Given the description of an element on the screen output the (x, y) to click on. 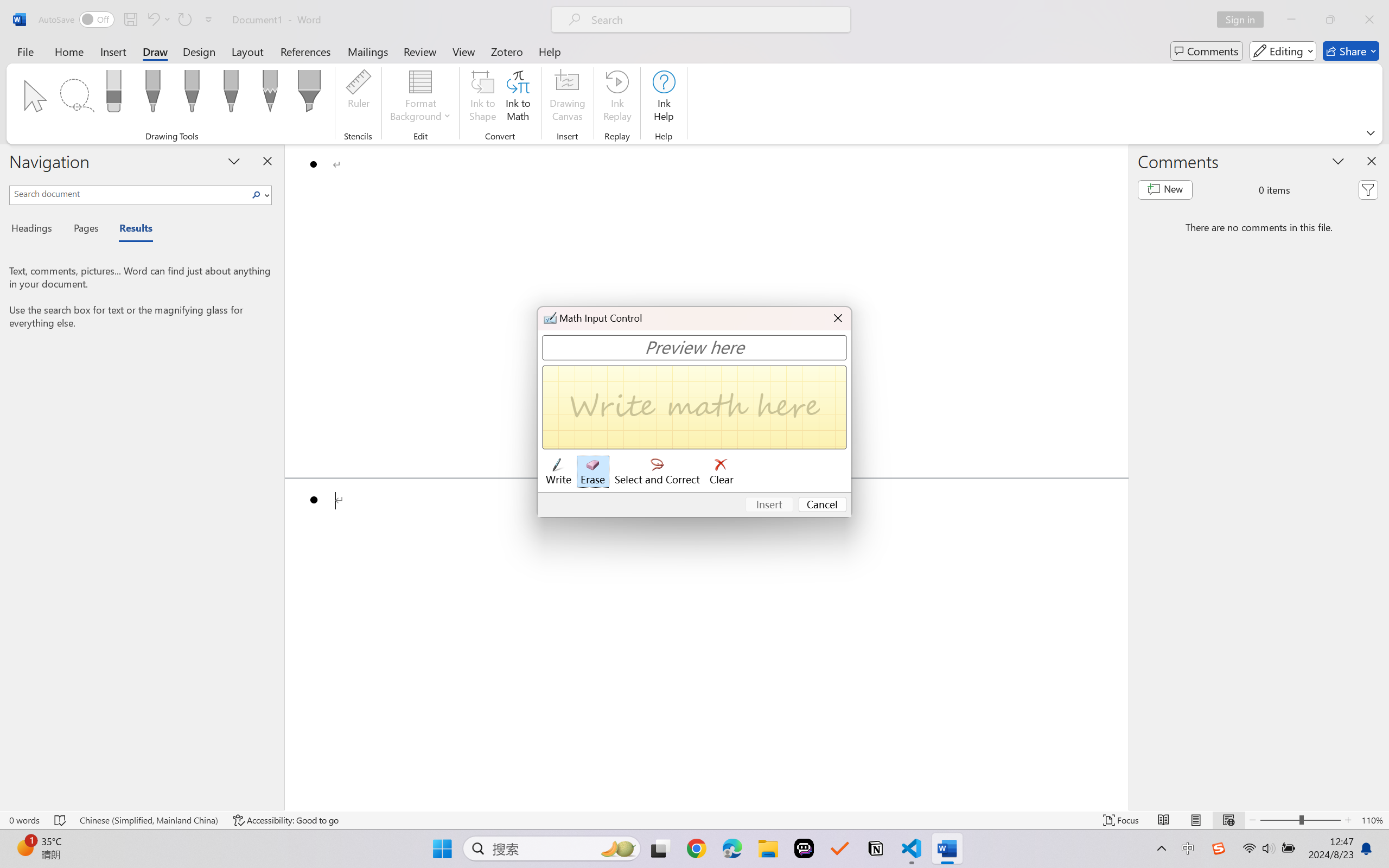
Write (558, 471)
Microsoft Edge (731, 848)
Erase (592, 471)
